Given the description of an element on the screen output the (x, y) to click on. 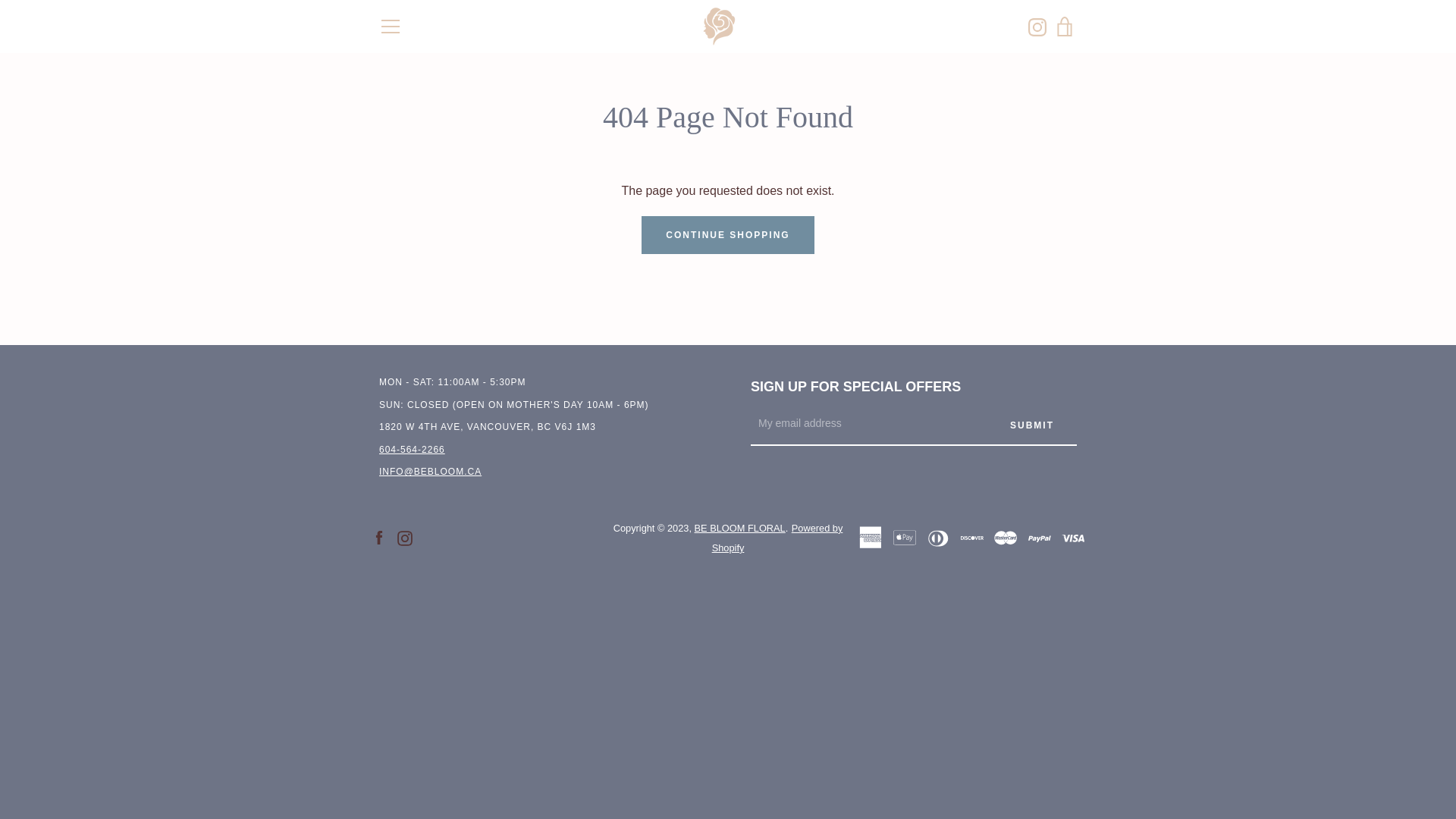
EXPAND NAVIGATION Element type: text (390, 26)
submit Element type: text (1031, 425)
Skip to content Element type: text (0, 0)
VIEW CART Element type: text (1065, 26)
INFO@BEBLOOM.CA Element type: text (430, 471)
Facebook Element type: text (378, 536)
Powered by Shopify Element type: text (777, 537)
Instagram Element type: text (404, 536)
BE BLOOM FLORAL Element type: text (739, 527)
CONTINUE SHOPPING Element type: text (727, 235)
604-564-2266 Element type: text (412, 449)
